Given the description of an element on the screen output the (x, y) to click on. 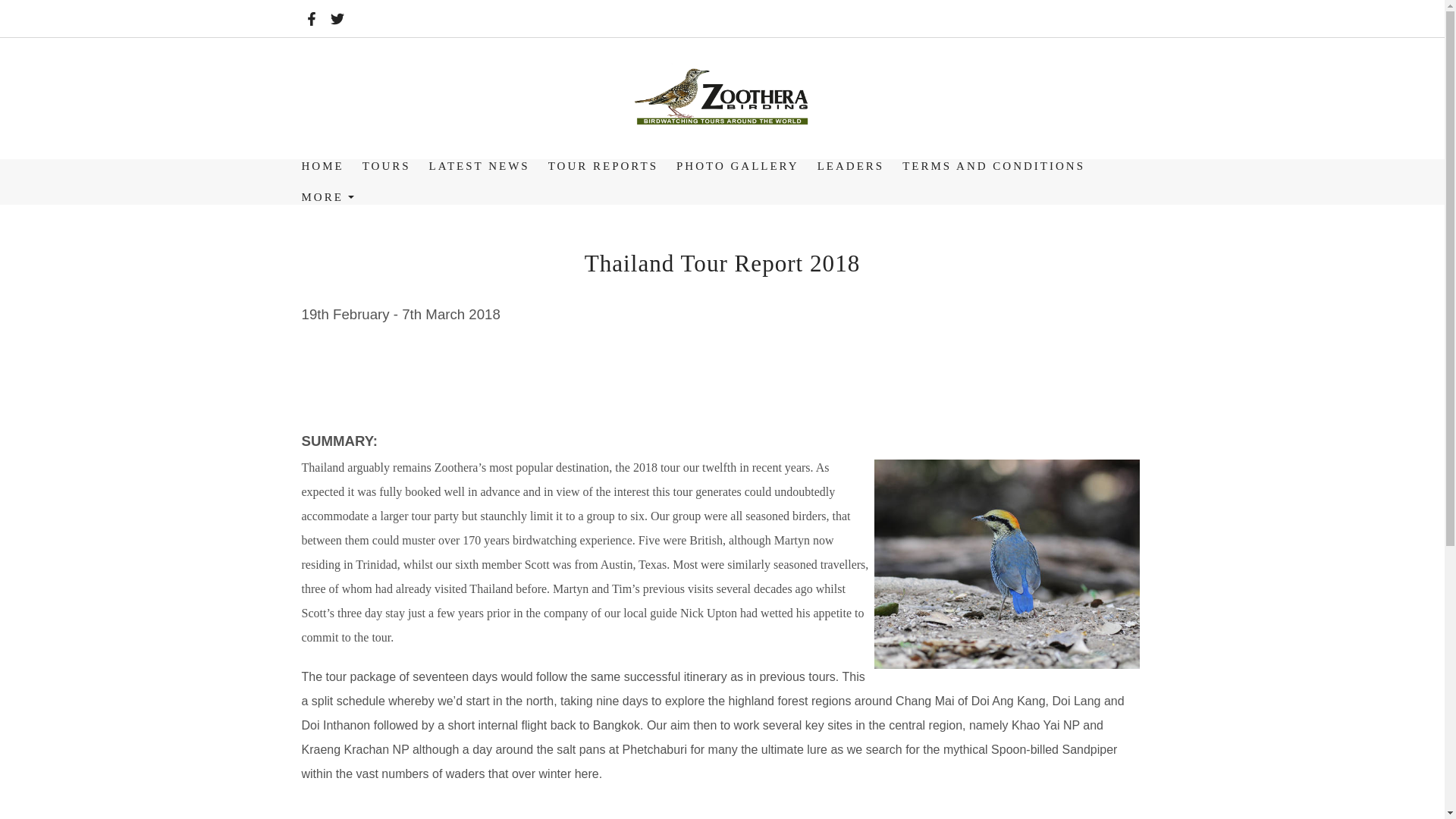
MORE (327, 196)
LEADERS (850, 165)
HOME (322, 165)
TOUR REPORTS (602, 165)
TERMS AND CONDITIONS (993, 165)
Blue Pitta - Thailand (1005, 564)
PHOTO GALLERY (737, 165)
facebook (311, 20)
twitter (337, 20)
LATEST NEWS (479, 165)
TOURS (386, 165)
